Given the description of an element on the screen output the (x, y) to click on. 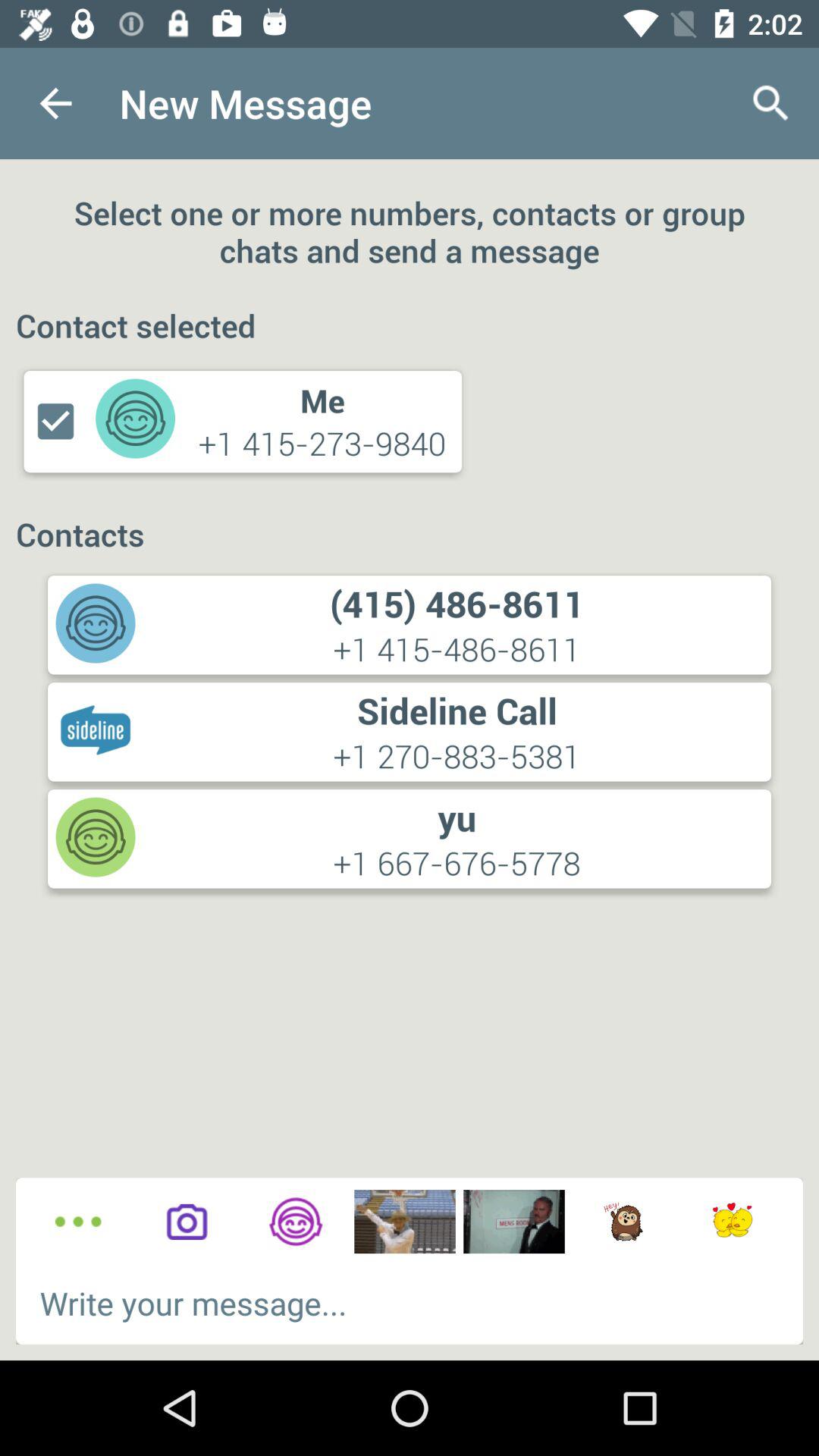
open the item above the select one or item (771, 103)
